Given the description of an element on the screen output the (x, y) to click on. 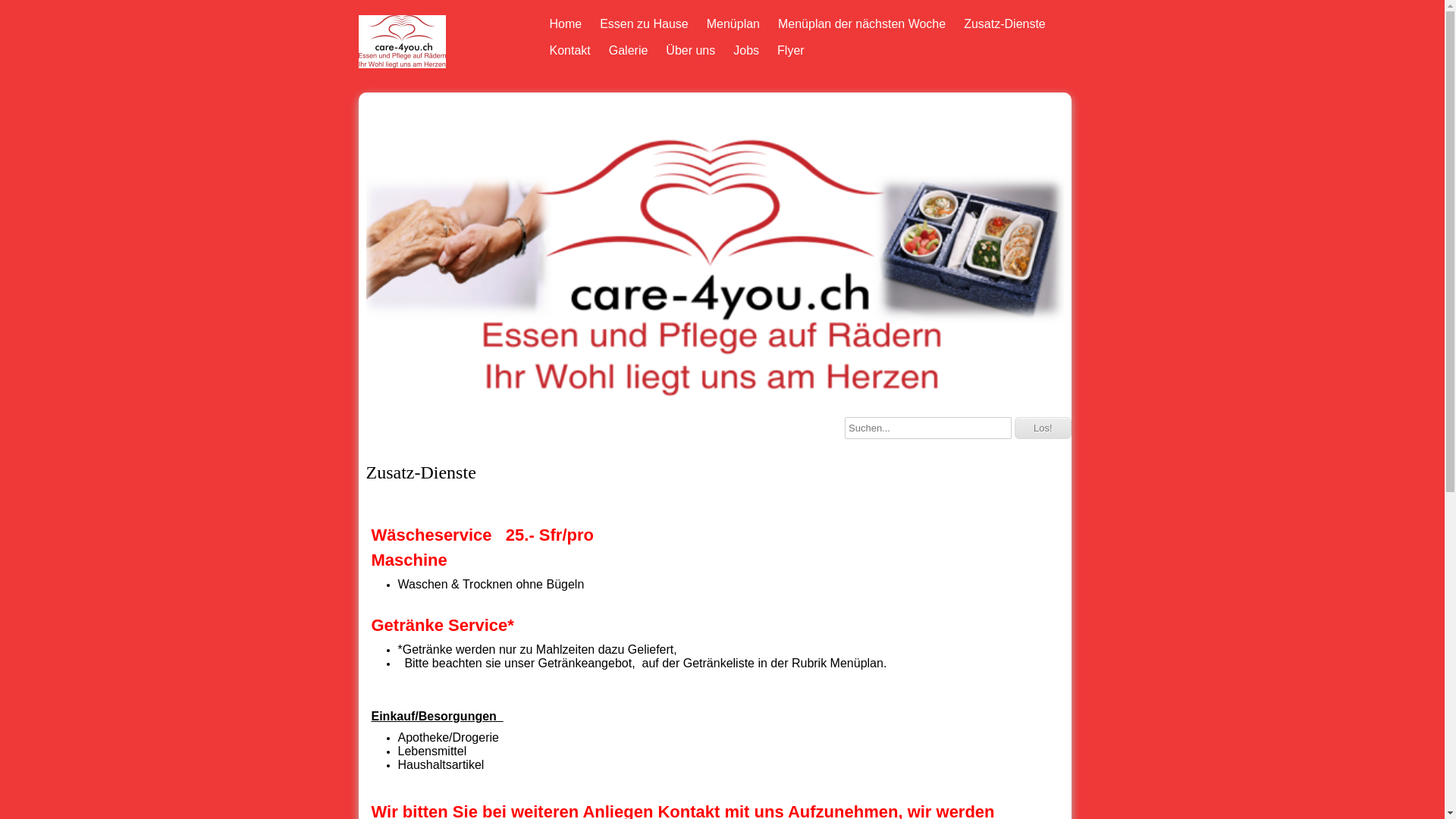
Los! Element type: text (1042, 428)
Essen zu Hause Element type: text (644, 23)
Galerie Element type: text (628, 50)
Home Element type: text (565, 23)
Kontakt Element type: text (569, 50)
Zusatz-Dienste Element type: text (1004, 23)
Jobs Element type: text (745, 50)
Flyer Element type: text (790, 50)
